Given the description of an element on the screen output the (x, y) to click on. 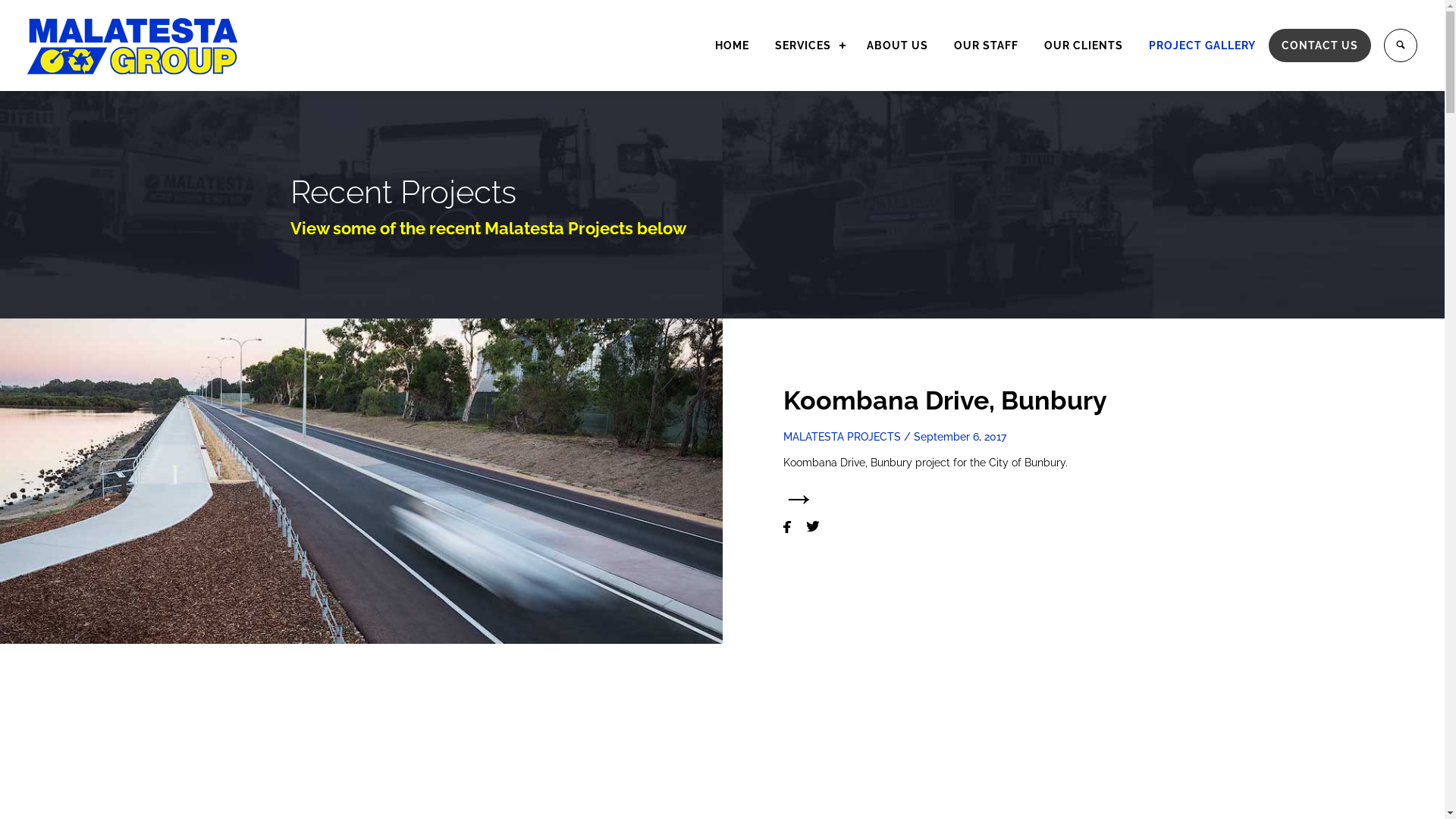
PROJECT GALLERY Element type: text (1201, 45)
OUR STAFF Element type: text (986, 45)
OUR CLIENTS Element type: text (1083, 45)
CONTACT US Element type: text (1319, 45)
HOME Element type: text (732, 45)
  Element type: text (1394, 45)
SERVICES Element type: text (807, 45)
Koombana Drive, Bunbury Element type: text (944, 400)
ABOUT US Element type: text (897, 45)
MALATESTA PROJECTS Element type: text (841, 436)
